Given the description of an element on the screen output the (x, y) to click on. 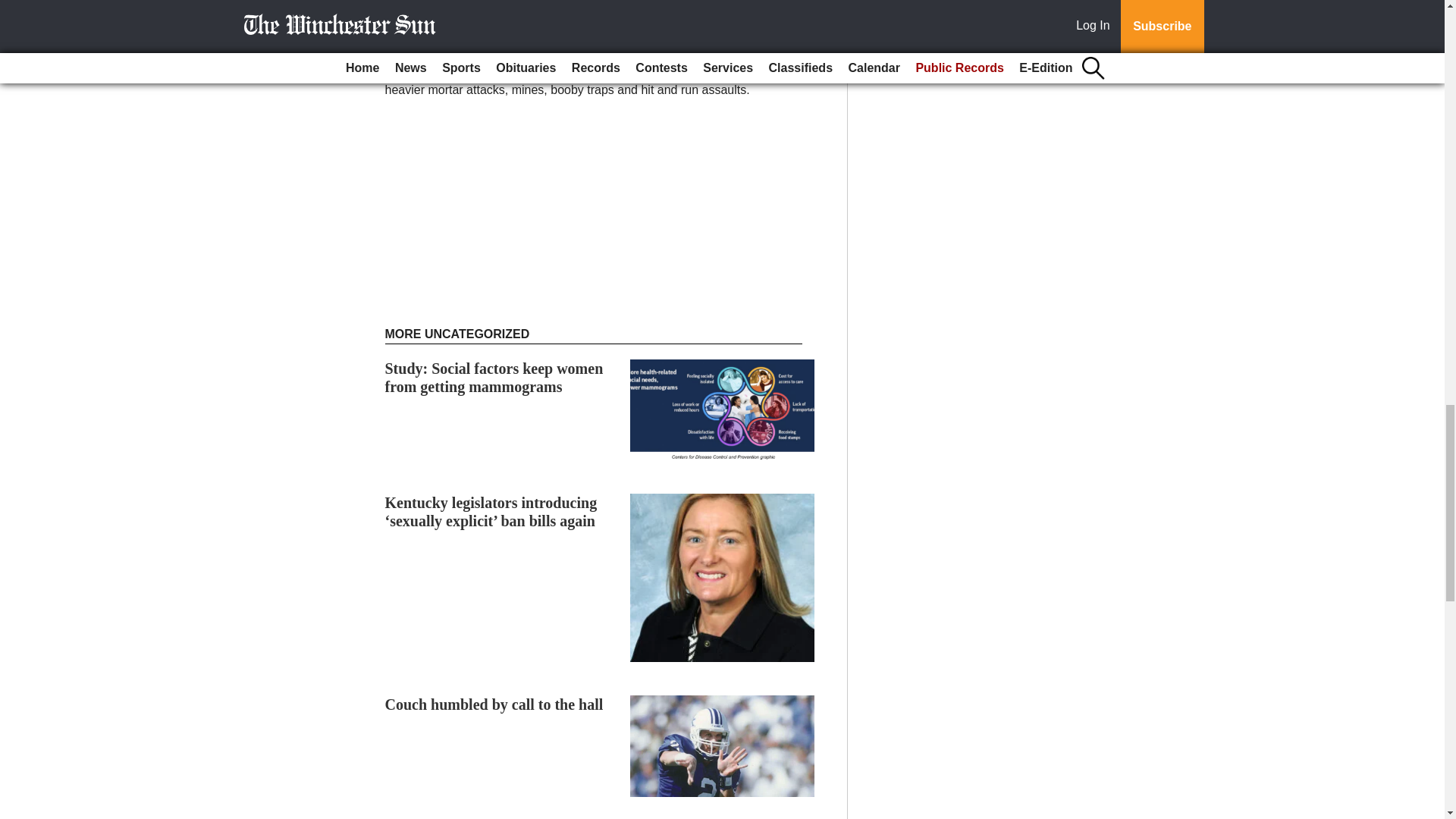
Study: Social factors keep women from getting mammograms (494, 377)
Study: Social factors keep women from getting mammograms (494, 377)
Couch humbled by call to the hall (494, 704)
Couch humbled by call to the hall (494, 704)
